Given the description of an element on the screen output the (x, y) to click on. 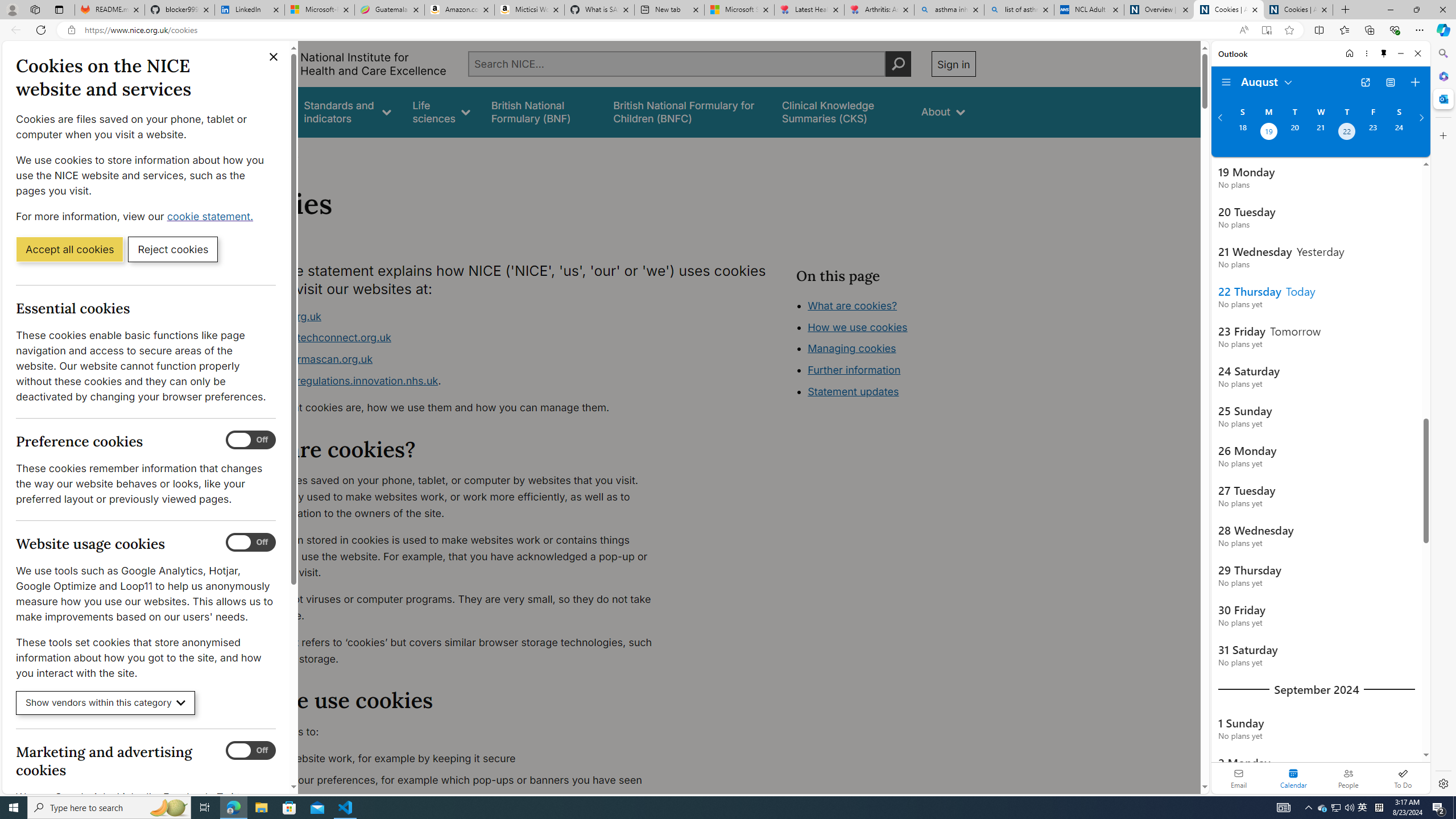
Close cookie banner (273, 56)
Monday, August 19, 2024. Date selected.  (1268, 132)
www.nice.org.uk (279, 315)
cookie statement. (Opens in a new window) (211, 215)
www.ukpharmascan.org.uk (452, 359)
